Given the description of an element on the screen output the (x, y) to click on. 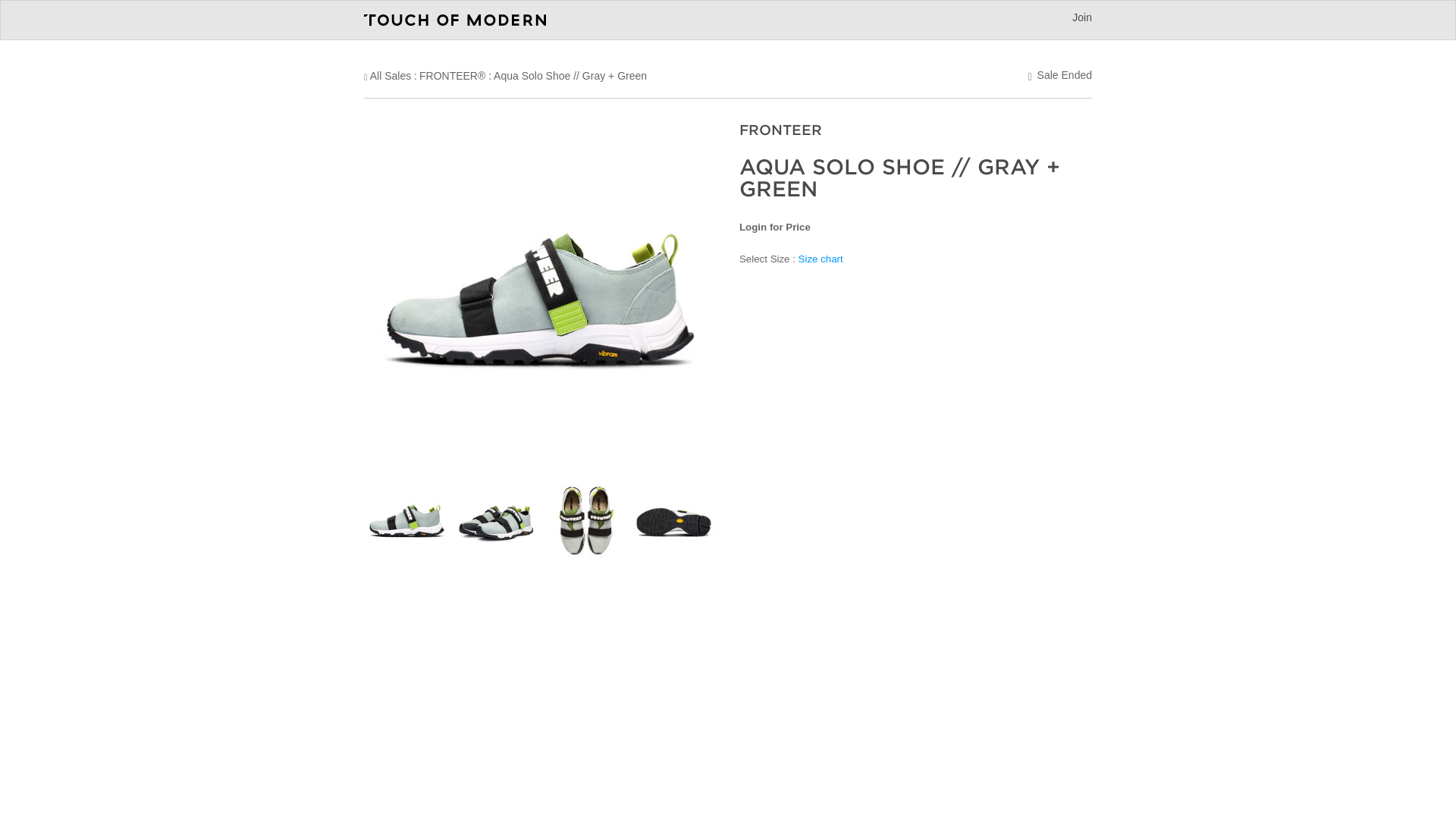
Join (1081, 17)
All Sales (389, 75)
Size chart (820, 258)
All Sales (389, 75)
